Given the description of an element on the screen output the (x, y) to click on. 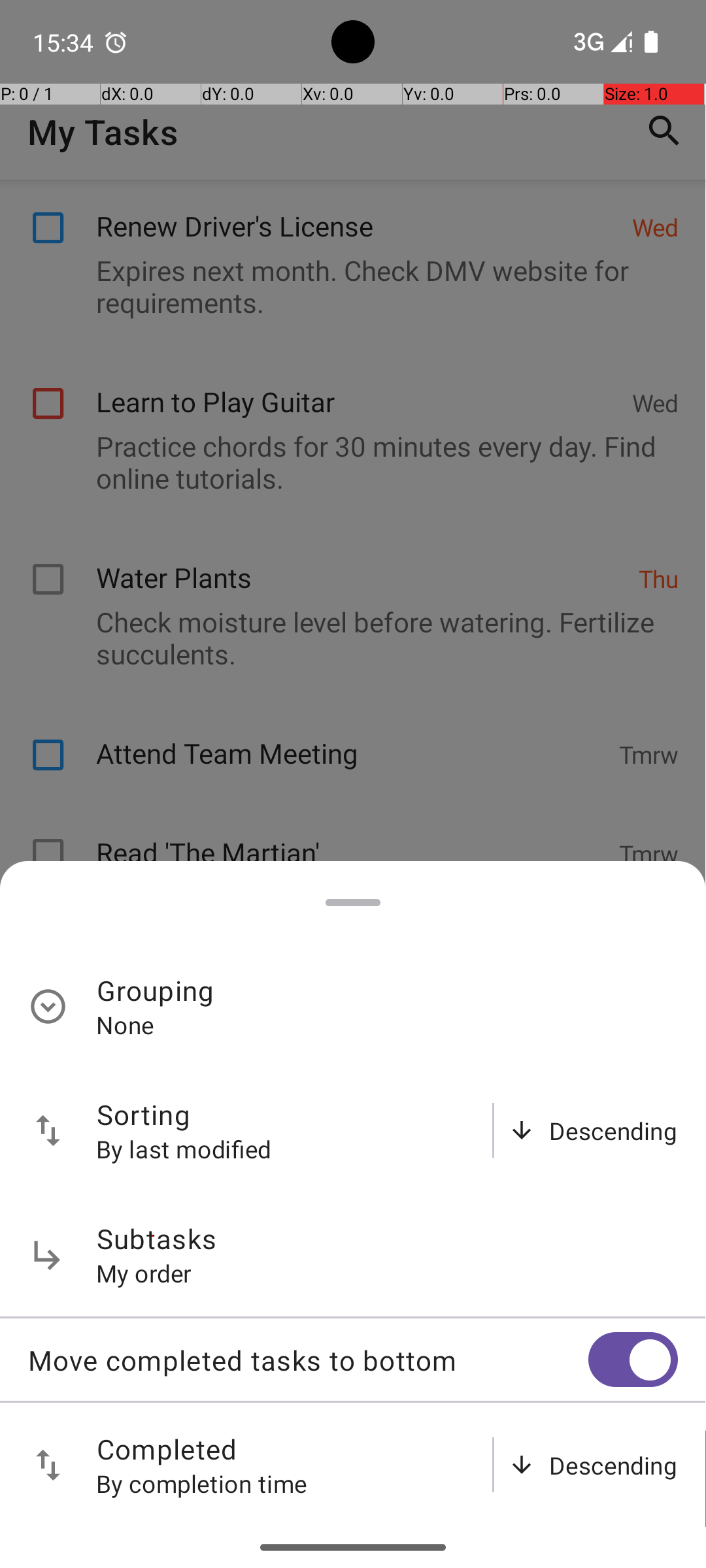
By last modified Element type: android.widget.TextView (183, 1148)
My order Element type: android.widget.TextView (144, 1273)
Completed Element type: android.widget.TextView (166, 1448)
By completion time Element type: android.widget.TextView (201, 1483)
